Given the description of an element on the screen output the (x, y) to click on. 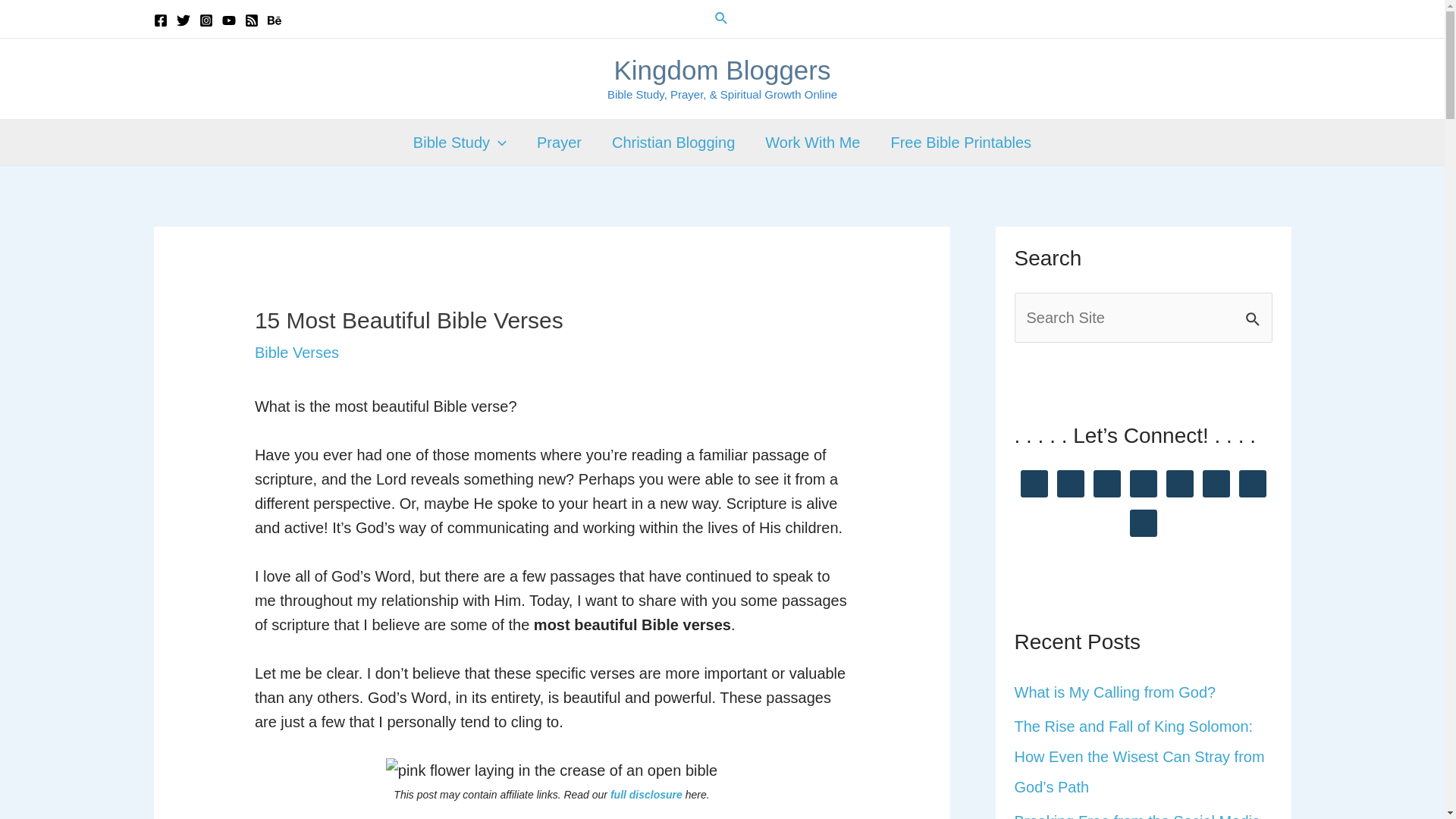
Bible Study (459, 142)
Search (1254, 309)
Kingdom Bloggers (720, 70)
Christian Blogging (672, 142)
Work With Me (812, 142)
Free Bible Printables (960, 142)
Prayer (558, 142)
Search (721, 18)
Search (1254, 309)
